Given the description of an element on the screen output the (x, y) to click on. 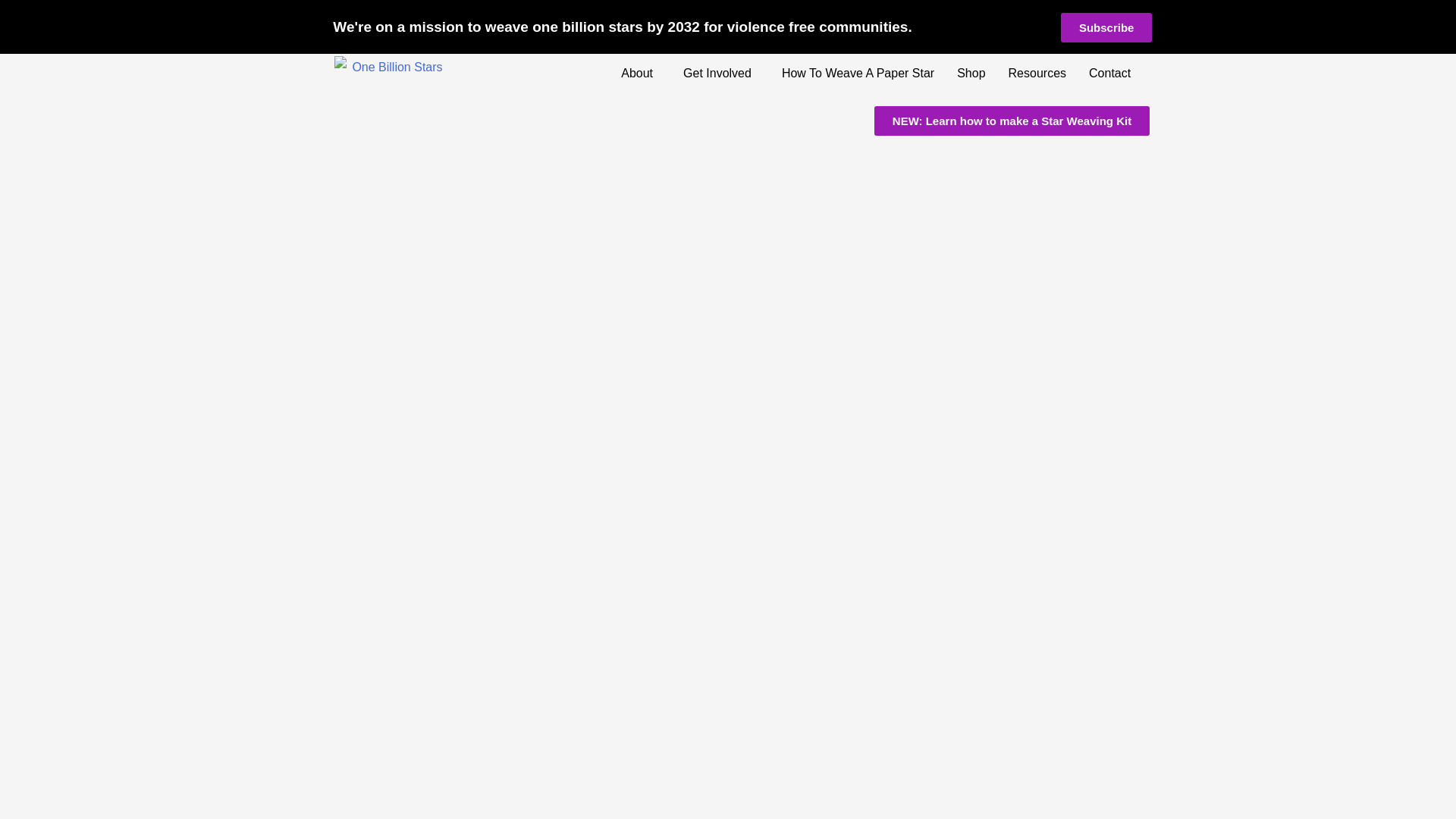
Shop (969, 73)
NEW: Learn how to make a Star Weaving Kit (1012, 120)
Subscribe (1107, 27)
About (640, 73)
Get Involved (720, 73)
Contact (1113, 73)
Resources (1037, 73)
How To Weave A Paper Star (857, 73)
